Given the description of an element on the screen output the (x, y) to click on. 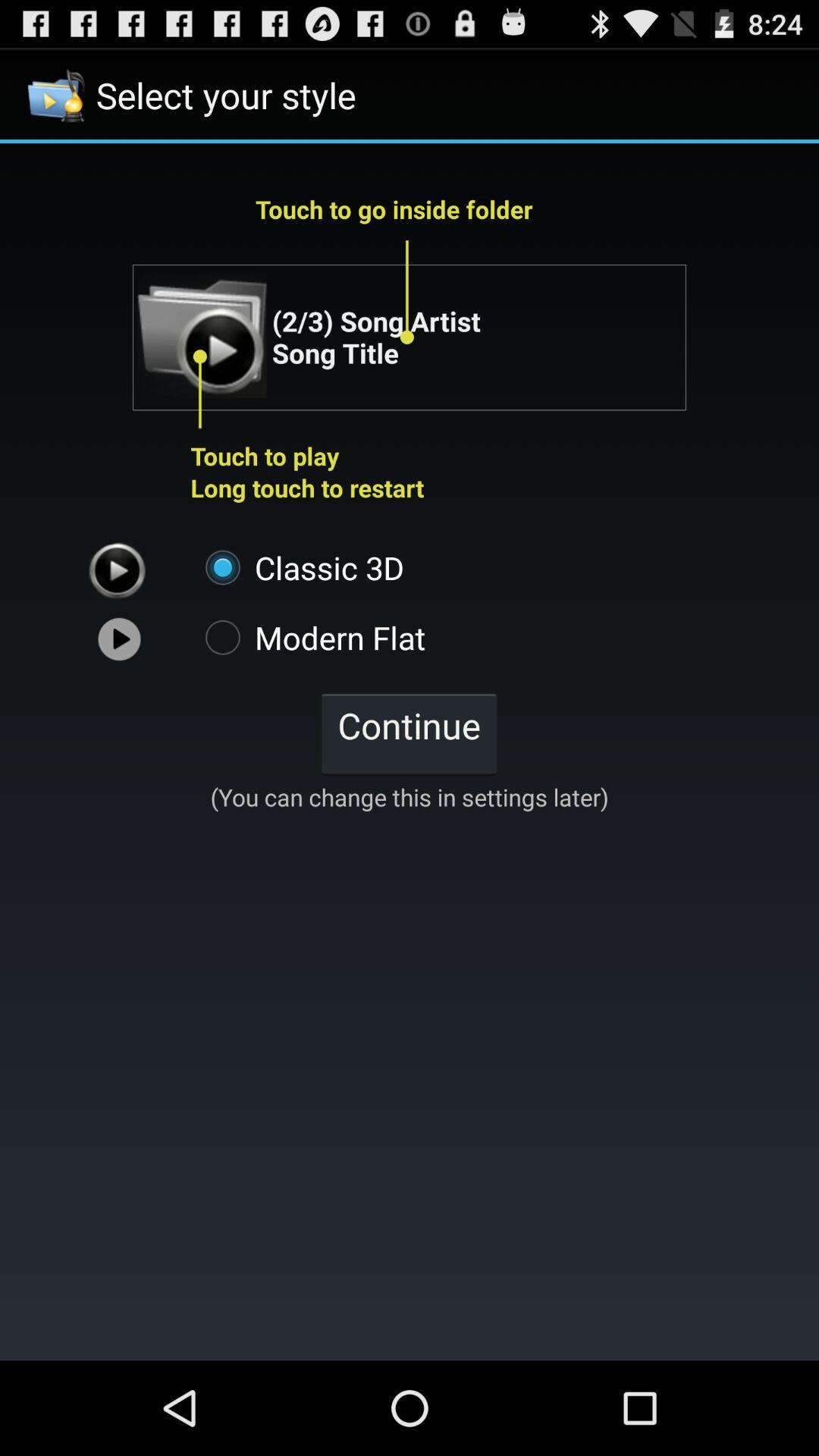
turn off item above the continue icon (308, 637)
